Given the description of an element on the screen output the (x, y) to click on. 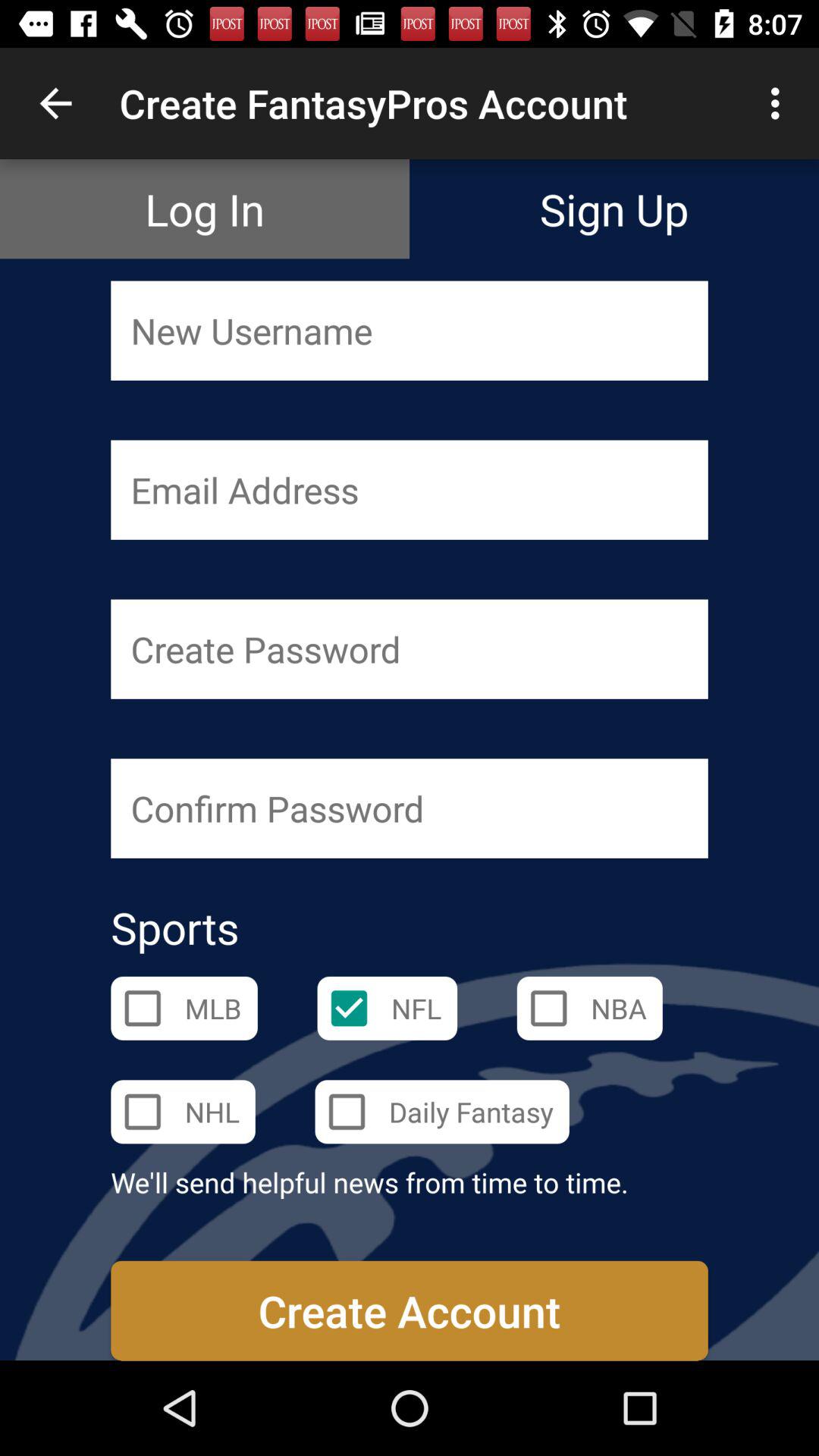
turn on item next to the create fantasypros account item (55, 103)
